Given the description of an element on the screen output the (x, y) to click on. 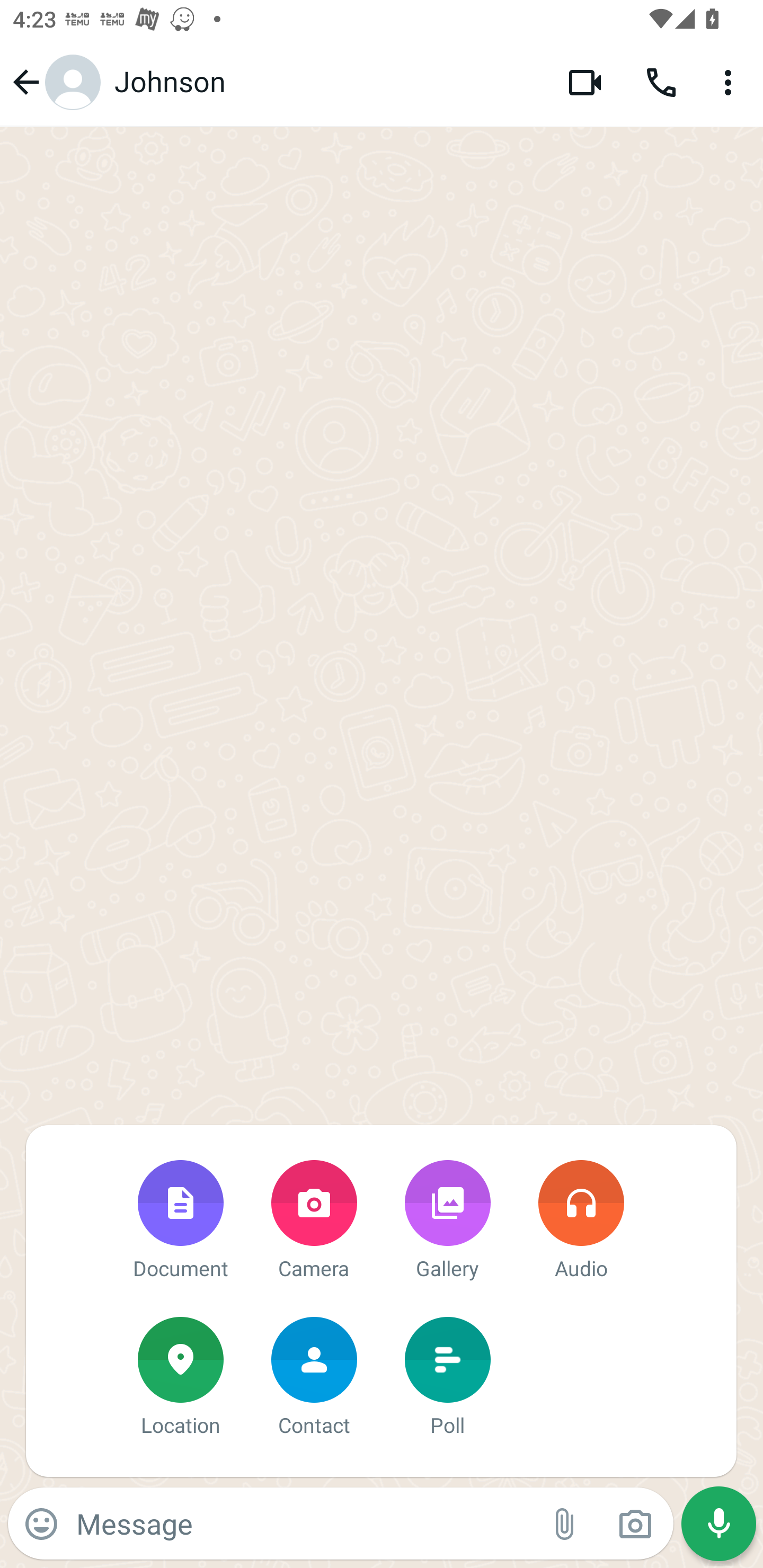
Document (180, 1221)
Camera (313, 1221)
Gallery (447, 1221)
Audio (580, 1221)
Location (180, 1378)
Contact (313, 1378)
Poll (447, 1378)
